Given the description of an element on the screen output the (x, y) to click on. 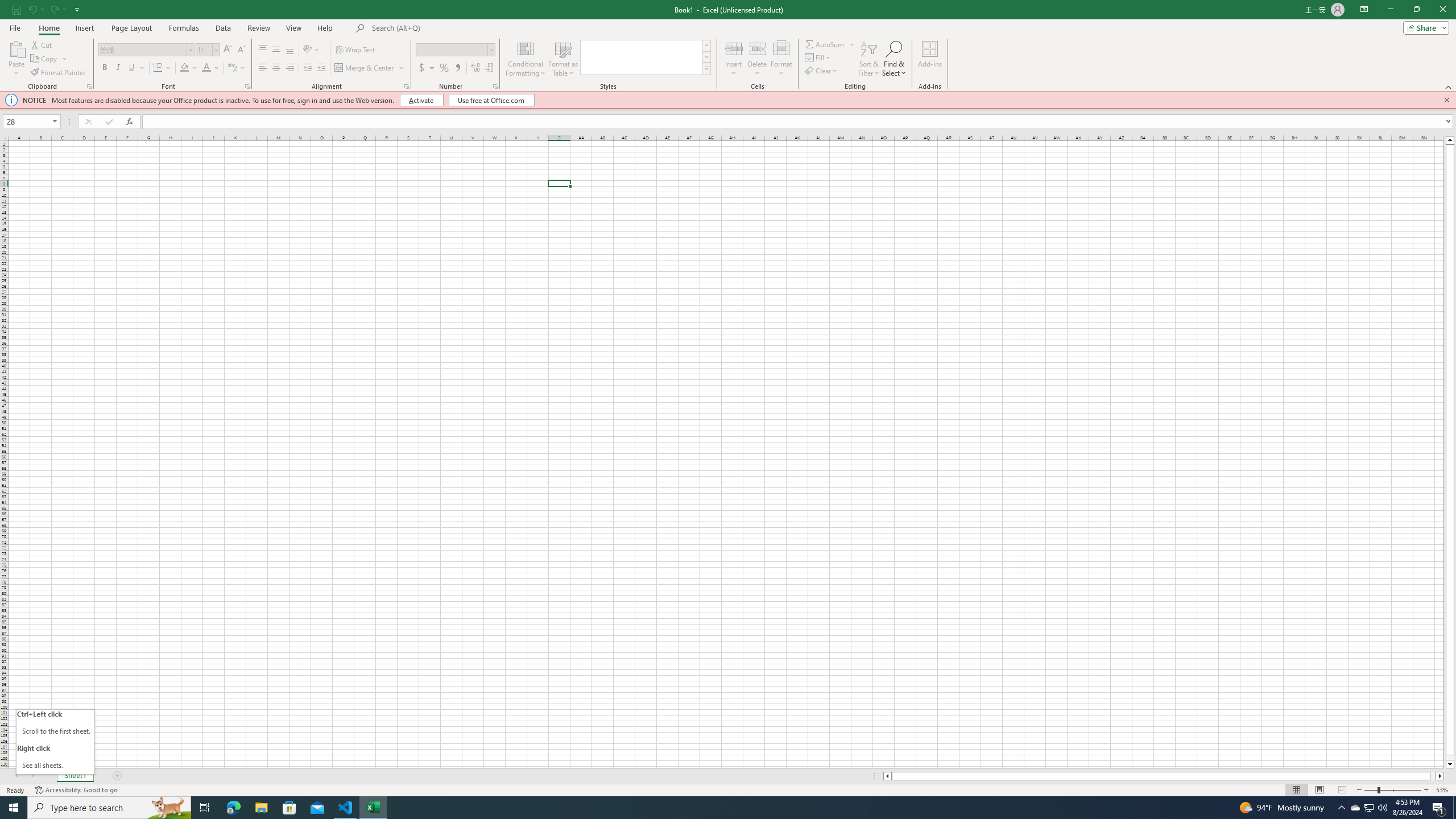
Align Left (262, 67)
Merge & Center (365, 67)
